Given the description of an element on the screen output the (x, y) to click on. 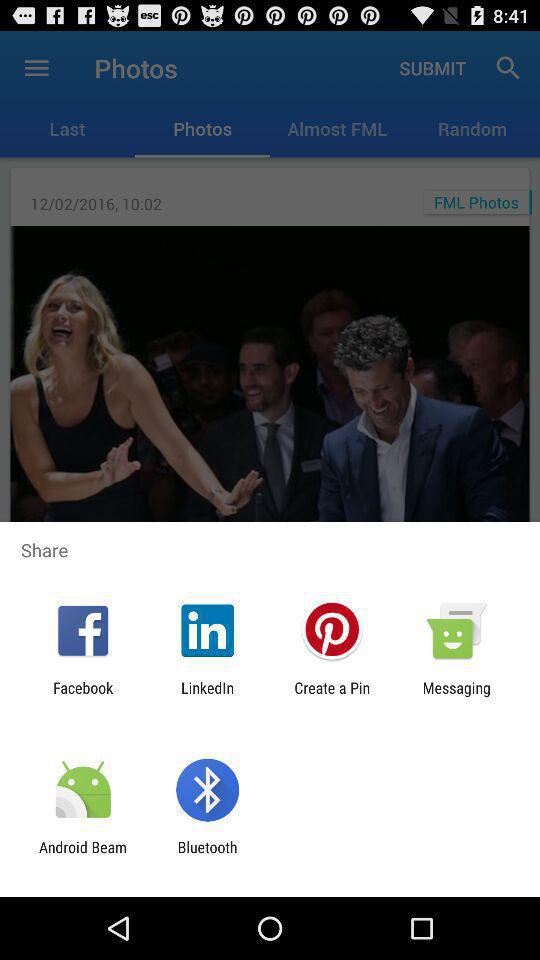
open app at the bottom right corner (456, 696)
